Given the description of an element on the screen output the (x, y) to click on. 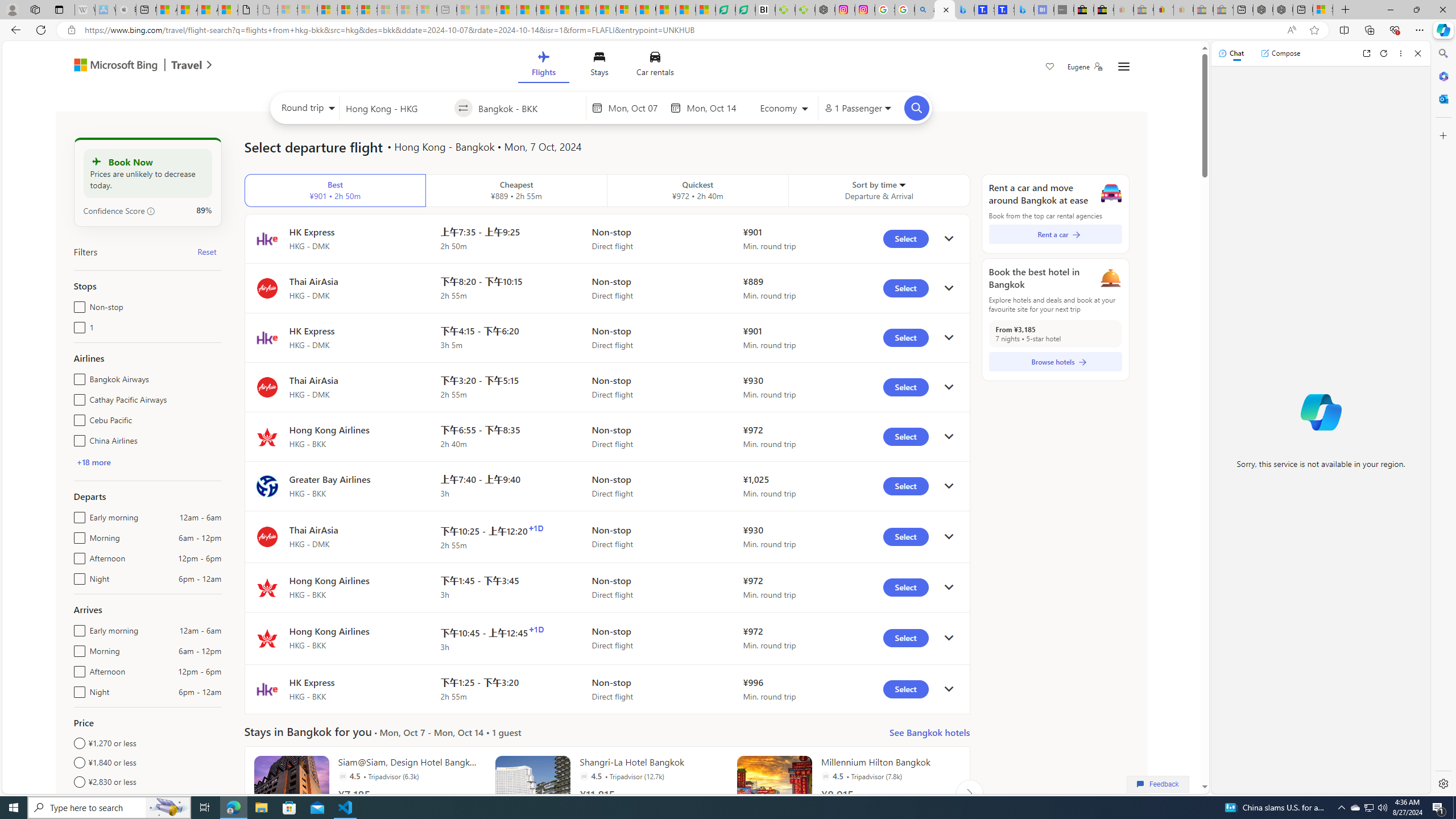
Threats and offensive language policy | eBay (1162, 9)
Stays (598, 65)
Class: autosuggest-container full-height no-y-padding (528, 107)
Shangri-La Bangkok, Hotel reviews and Room rates (1004, 9)
Non-stop (76, 304)
End date (713, 107)
Morning6am - 12pm (76, 648)
Marine life - MSN - Sleeping (486, 9)
Aberdeen, Hong Kong SAR severe weather | Microsoft Weather (227, 9)
